Given the description of an element on the screen output the (x, y) to click on. 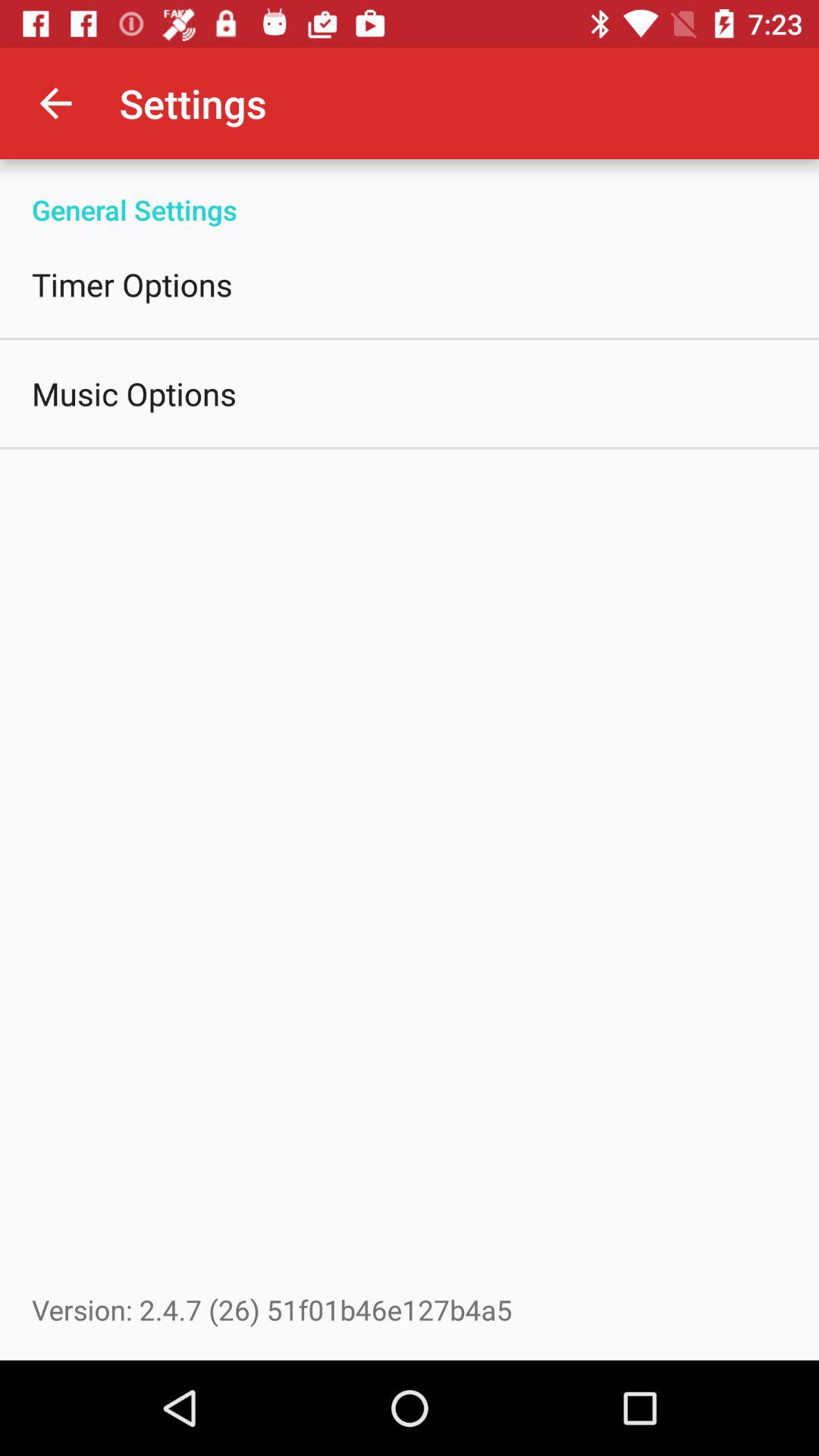
press the icon below timer options item (133, 393)
